Given the description of an element on the screen output the (x, y) to click on. 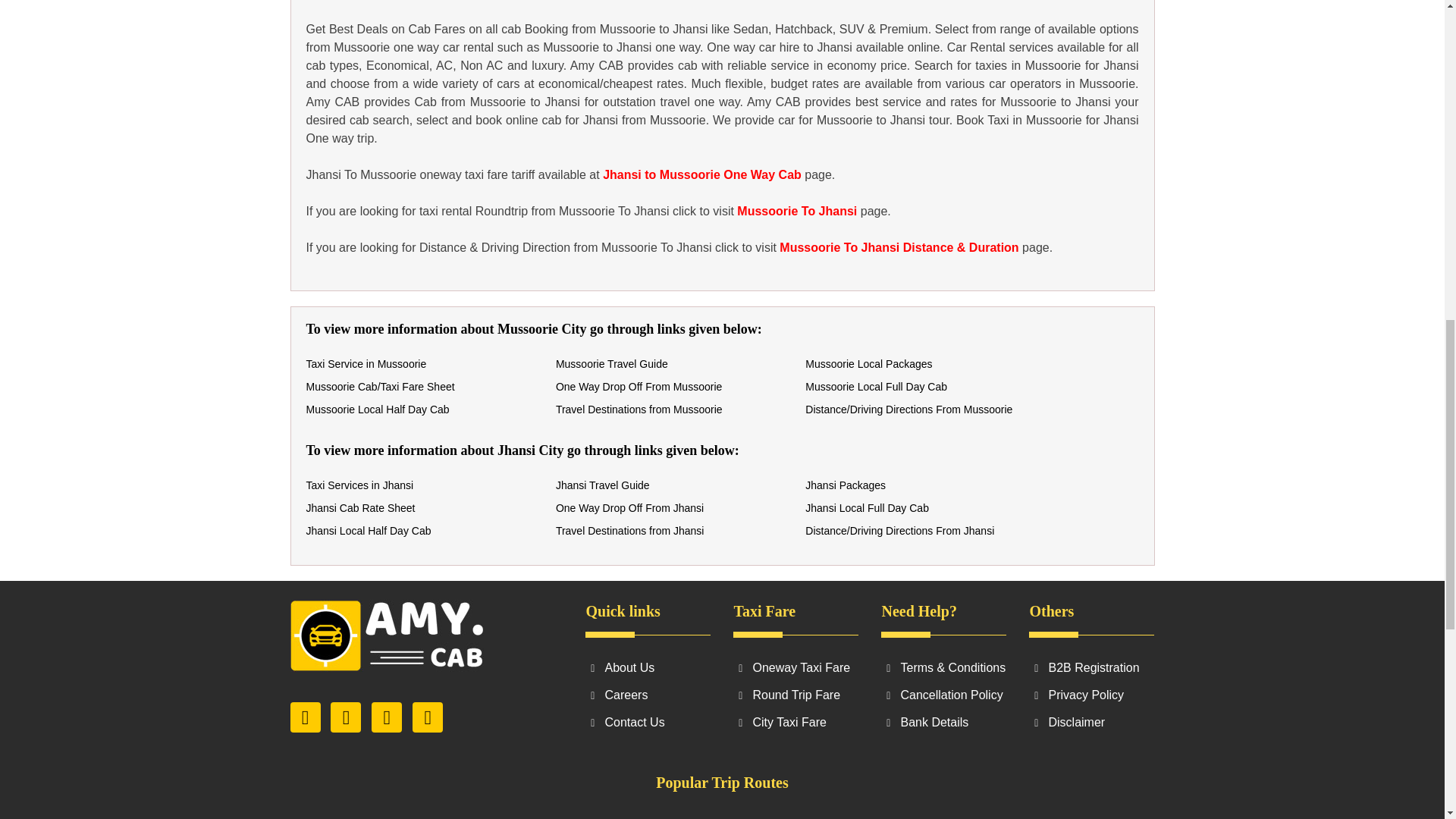
Jhansi Local Half Day Cab (367, 530)
Mussoorie Travel Guide (612, 363)
Mussoorie Local Full Day Cab (876, 386)
Jhansi to Mussoorie One Way Cab (702, 174)
One Way Drop Off From Jhansi (629, 508)
Taxi Services in Jhansi (359, 485)
Jhansi Packages (845, 485)
Travel Destinations from Jhansi (630, 530)
Jhansi Travel Guide (602, 485)
Taxi Service in Mussoorie (365, 363)
One Way Drop Off From Mussoorie (639, 386)
Jhansi Cab Rate Sheet (359, 508)
Travel Destinations from Mussoorie (639, 409)
Mussoorie Local Packages (868, 363)
Jhansi Local Full Day Cab (866, 508)
